Given the description of an element on the screen output the (x, y) to click on. 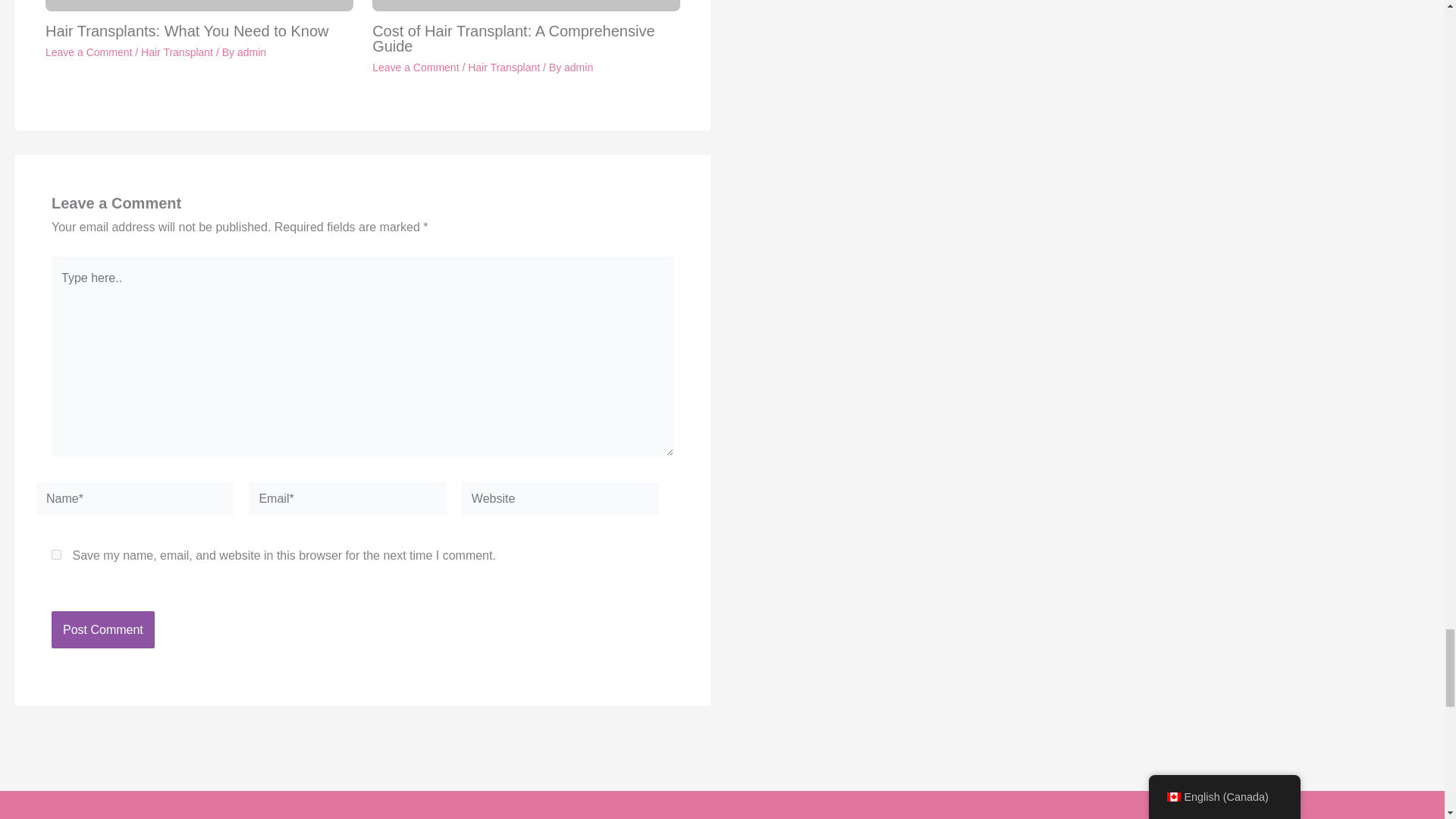
View all posts by admin (251, 51)
Hair Transplants: What You Need to Know (187, 30)
yes (55, 554)
admin (251, 51)
Hair Transplant (176, 51)
Leave a Comment (88, 51)
Post Comment (102, 629)
View all posts by admin (578, 67)
